Given the description of an element on the screen output the (x, y) to click on. 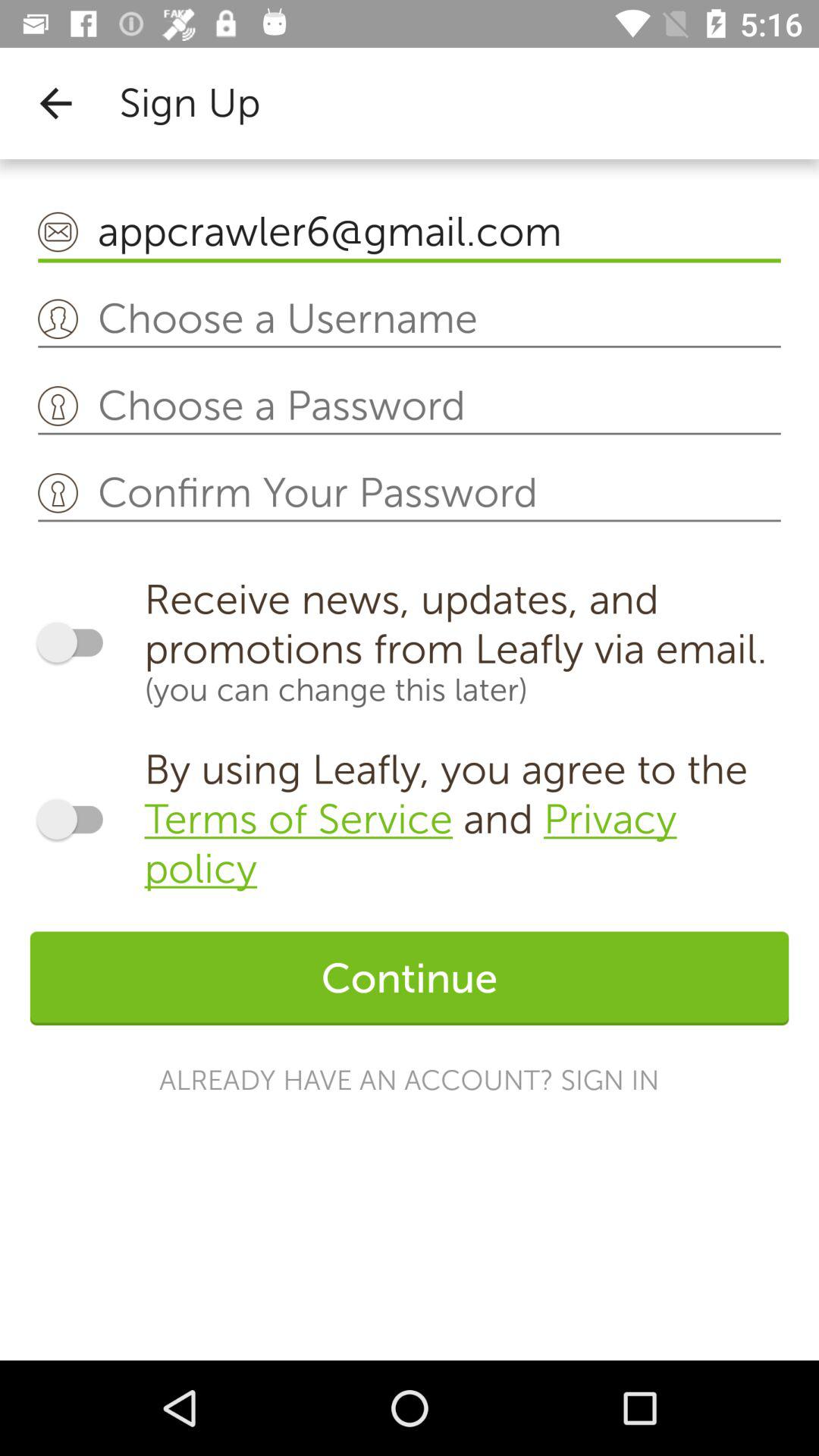
scroll until by using leafly item (466, 819)
